Given the description of an element on the screen output the (x, y) to click on. 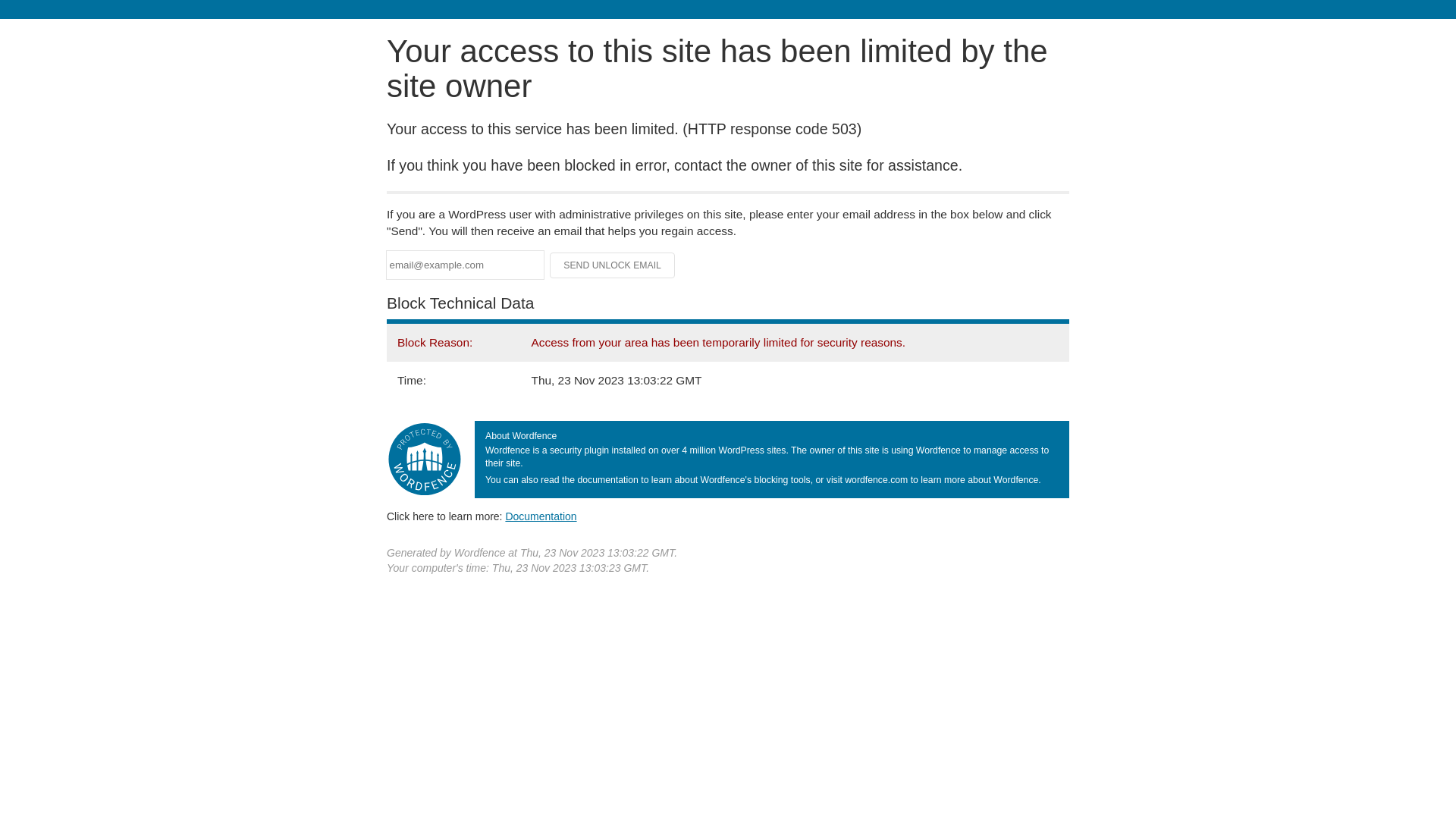
Send Unlock Email Element type: text (612, 265)
Documentation Element type: text (540, 516)
